Given the description of an element on the screen output the (x, y) to click on. 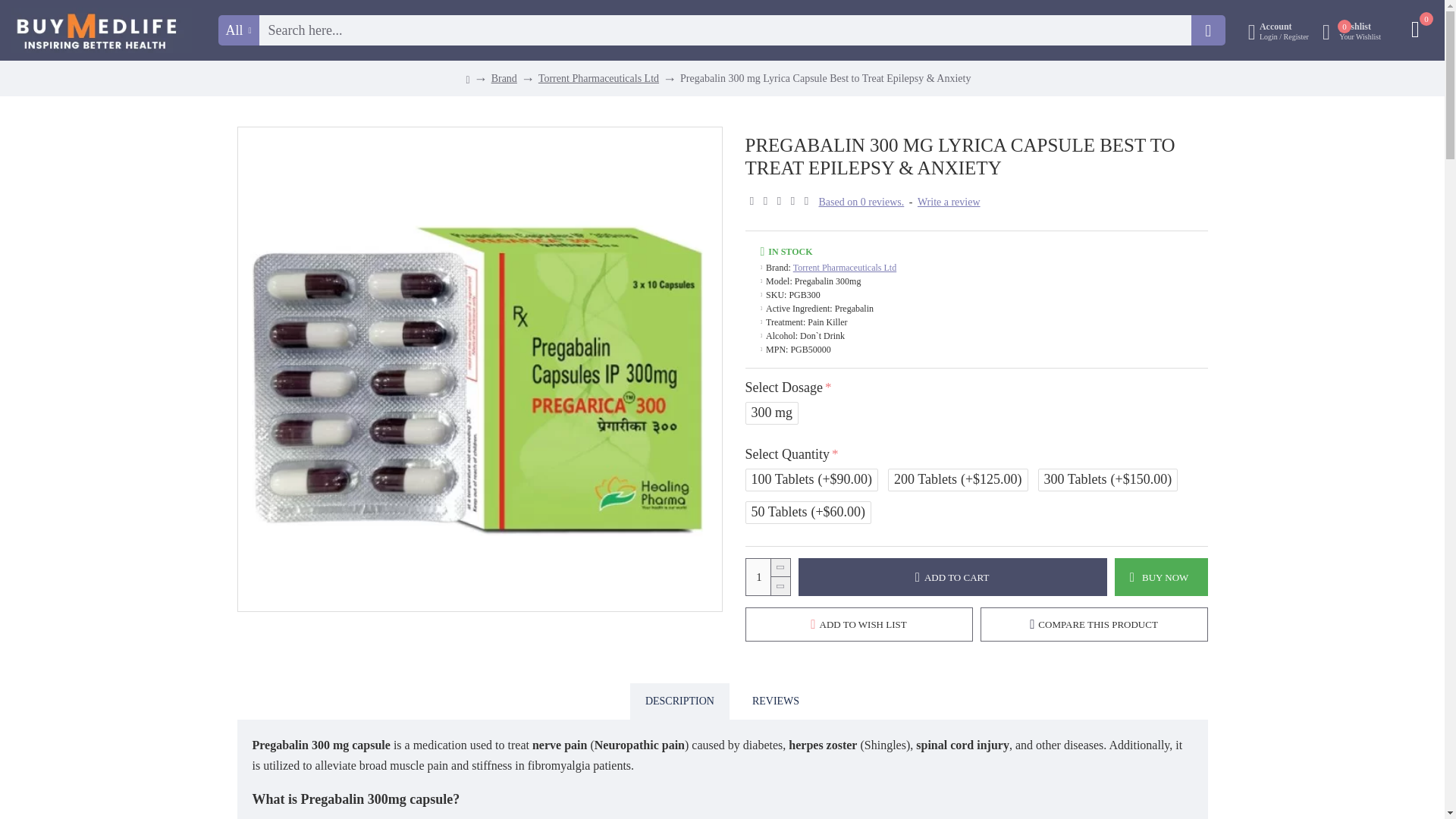
1 (1351, 29)
BUYMEDLIFE (767, 576)
